Given the description of an element on the screen output the (x, y) to click on. 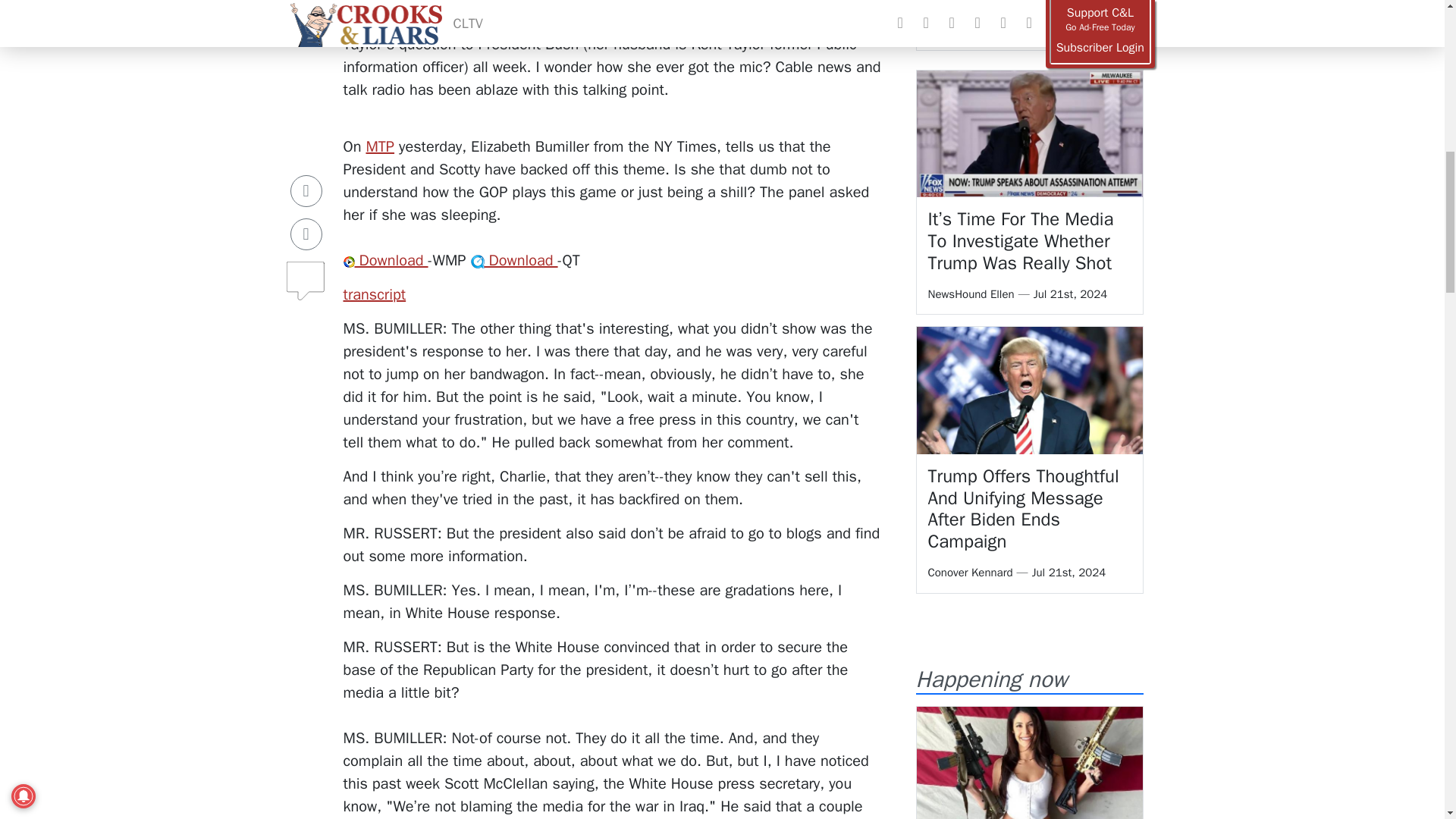
transcript (374, 294)
Download (385, 260)
MTP (379, 146)
followed suit (512, 4)
Download (513, 260)
